Given the description of an element on the screen output the (x, y) to click on. 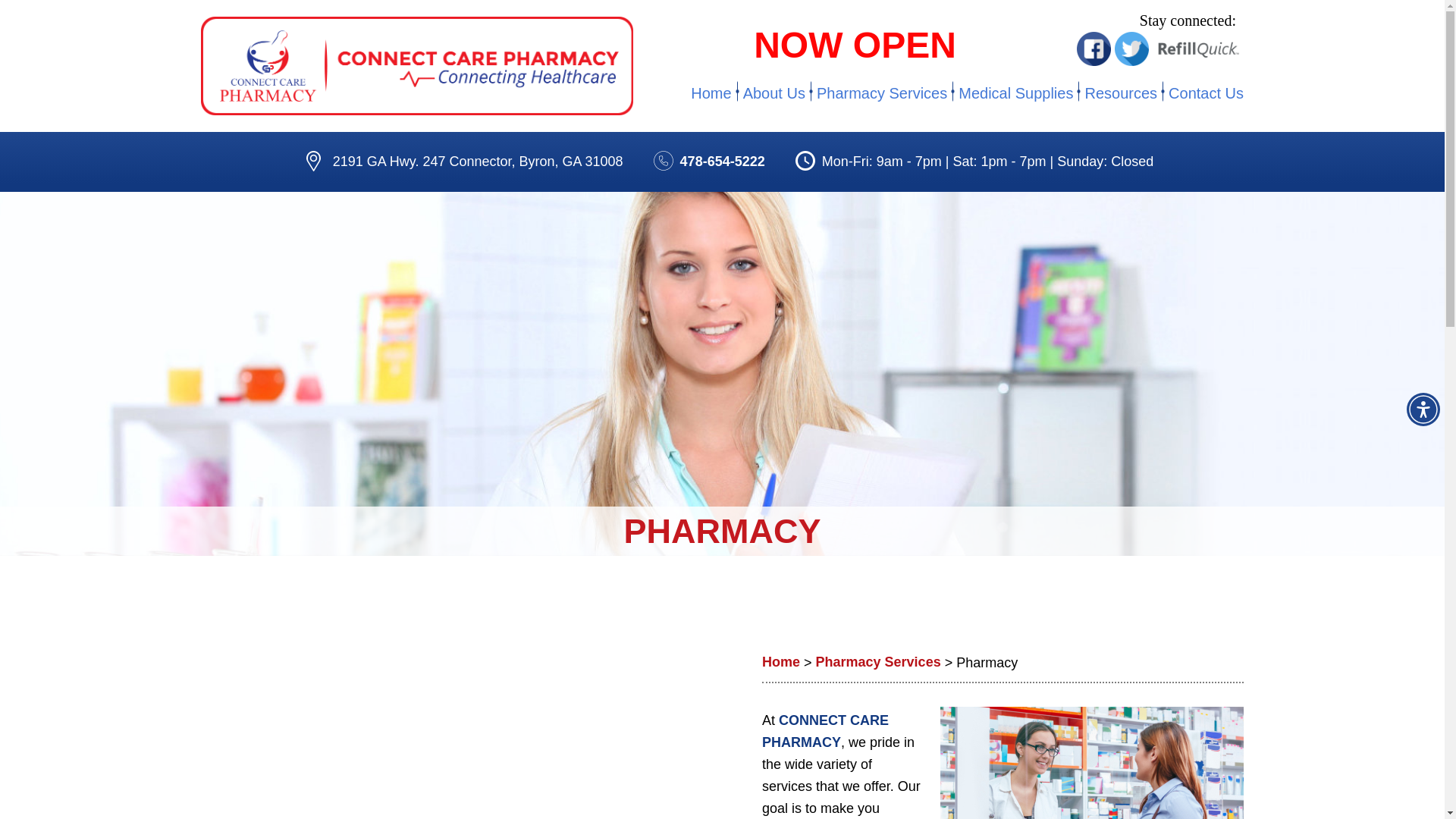
Home (712, 93)
Home (780, 662)
Contact Us (1203, 93)
Pharmacy Services (881, 93)
Go to Pharmacy Services. (877, 662)
Pharmacy Services (877, 662)
Medical Supplies (1016, 93)
Resources (1120, 93)
Go to Home. (780, 662)
About Us (774, 93)
Accessibility Menu (1422, 409)
